Given the description of an element on the screen output the (x, y) to click on. 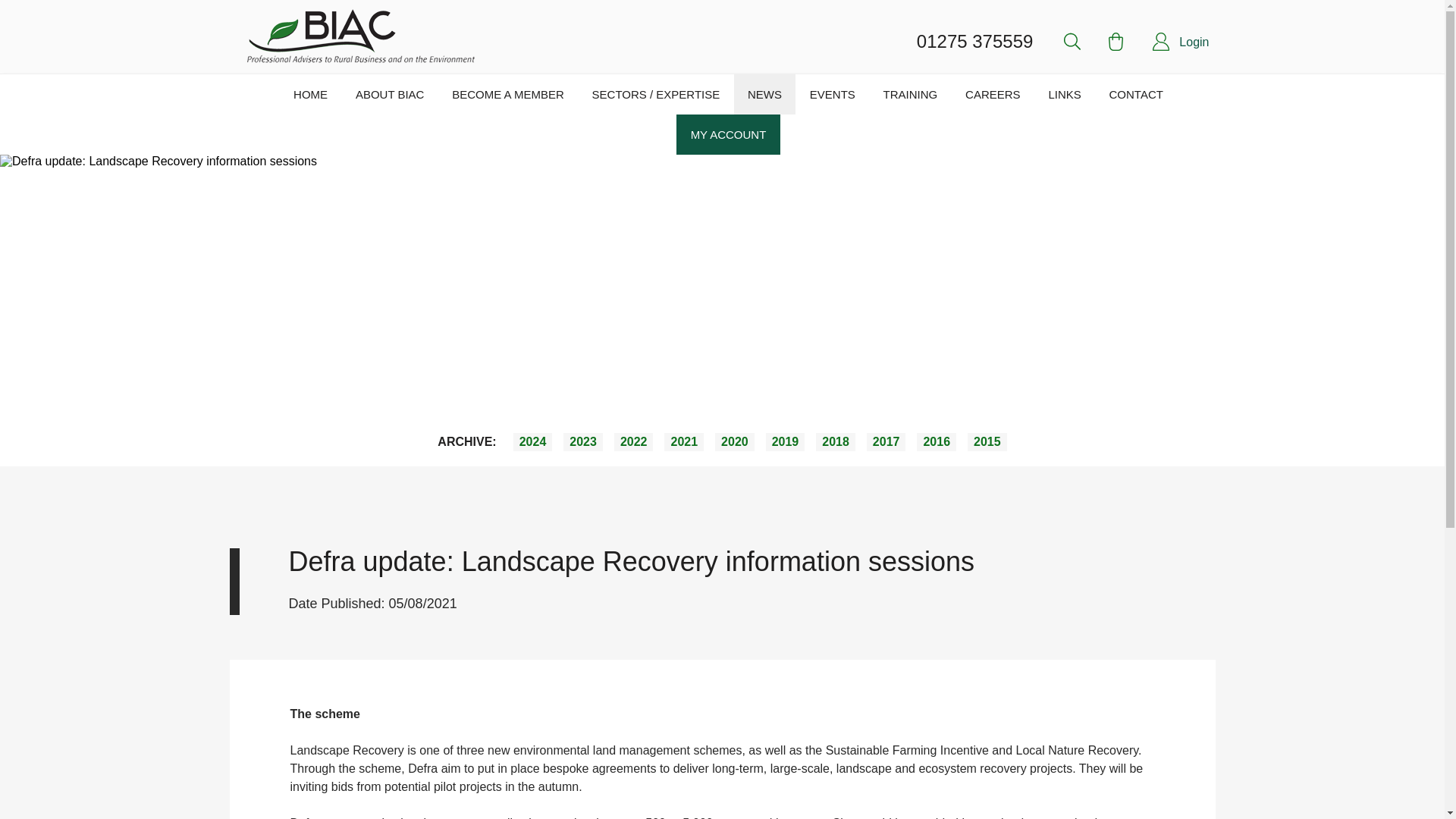
NEWS (764, 94)
BECOME A MEMBER (508, 94)
MY ACCOUNT (728, 134)
HOME (310, 94)
EVENTS (831, 94)
CAREERS (992, 94)
TRAINING (909, 94)
CONTACT (1135, 94)
ABOUT BIAC (389, 94)
LINKS (1063, 94)
Login (1193, 42)
